Given the description of an element on the screen output the (x, y) to click on. 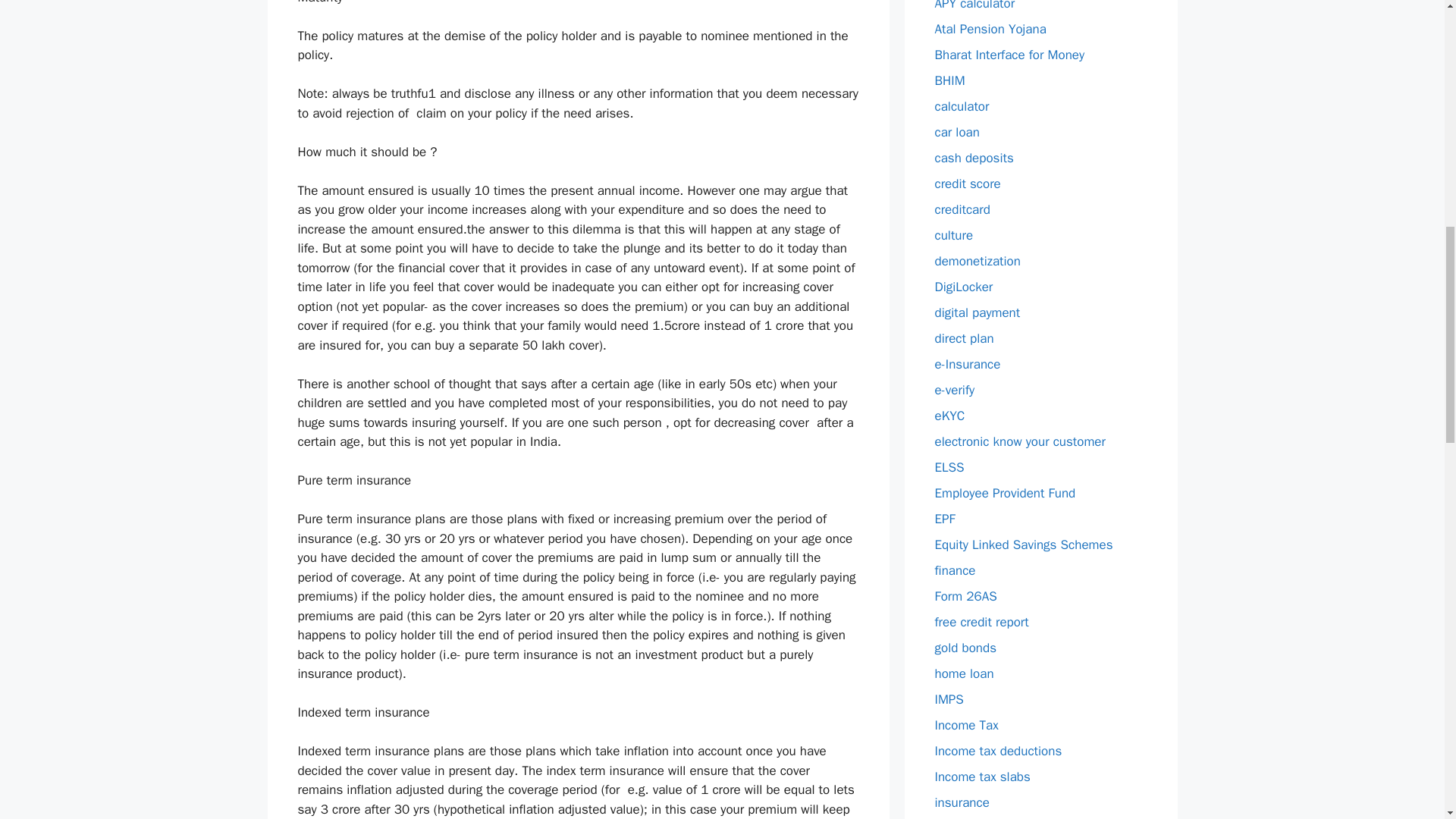
BHIM (948, 80)
culture (953, 235)
creditcard (962, 209)
calculator (961, 106)
car loan (956, 132)
APY calculator (974, 5)
credit score (967, 183)
Atal Pension Yojana (989, 28)
cash deposits (973, 157)
Bharat Interface for Money (1009, 54)
